Given the description of an element on the screen output the (x, y) to click on. 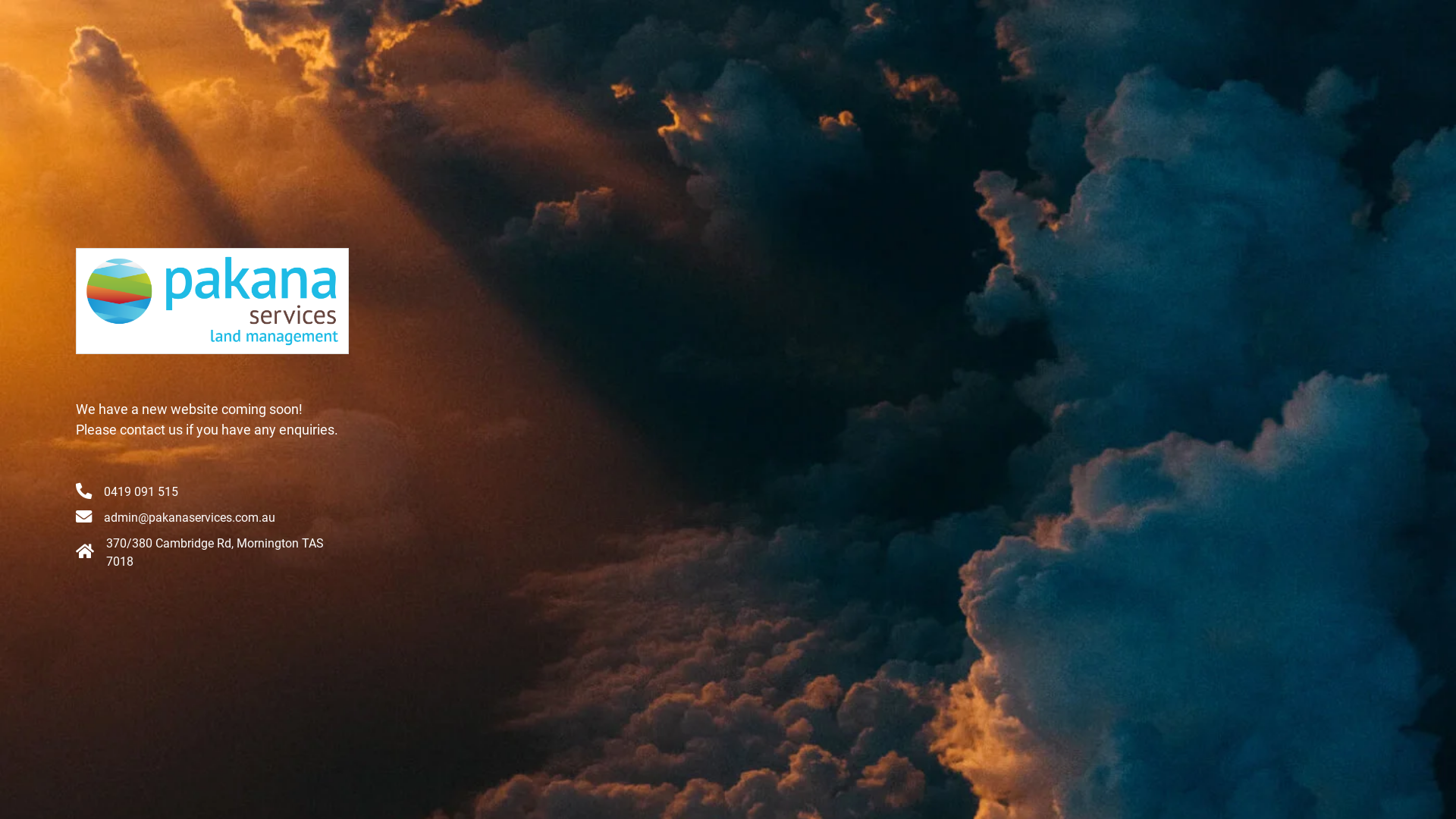
370/380 Cambridge Rd, Mornington TAS 7018 Element type: text (214, 552)
0419 091 515 Element type: text (140, 491)
admin@pakanaservices.com.au Element type: text (189, 517)
